Given the description of an element on the screen output the (x, y) to click on. 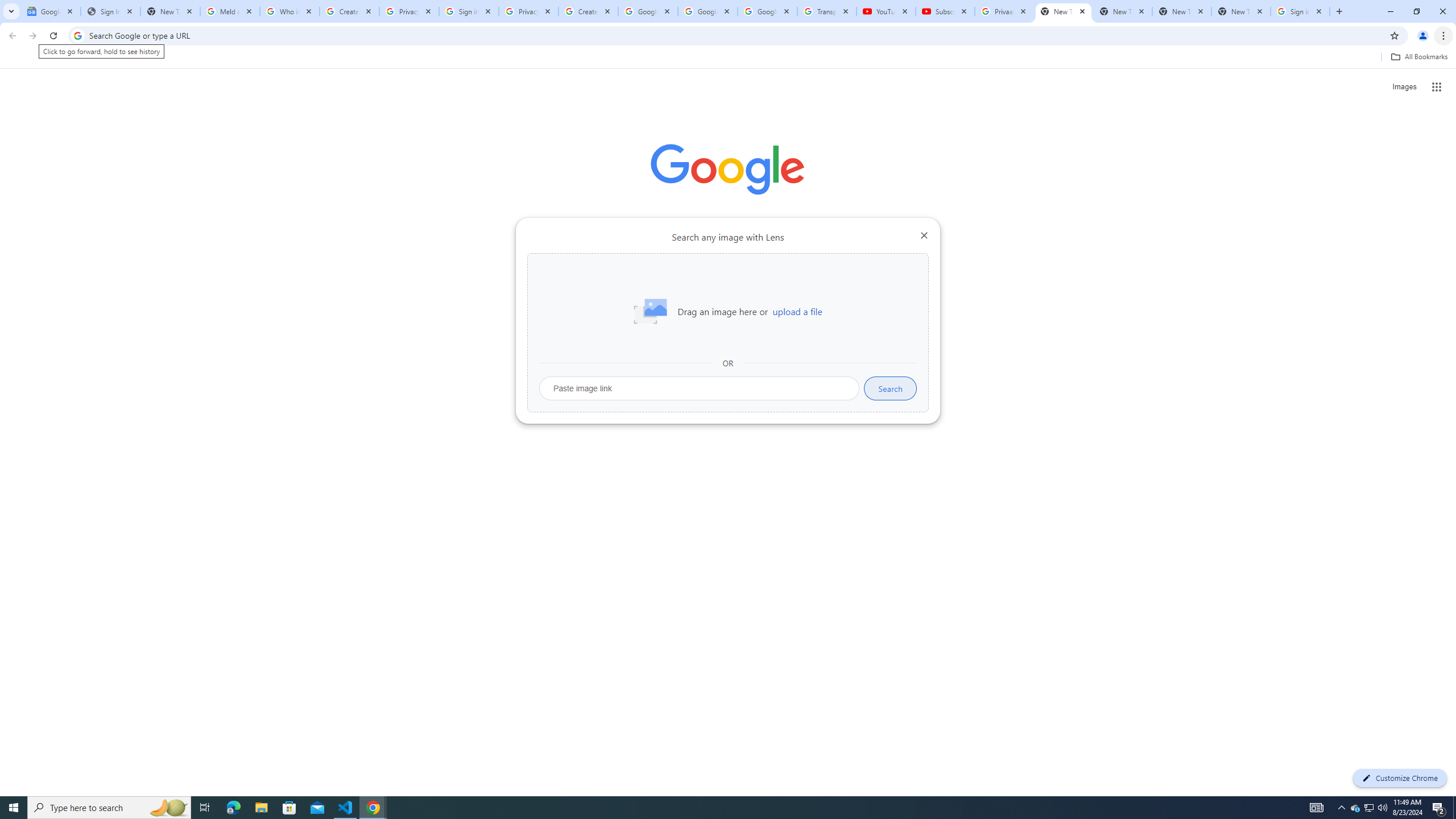
Account (59, 722)
Info (59, 318)
New (59, 118)
